Given the description of an element on the screen output the (x, y) to click on. 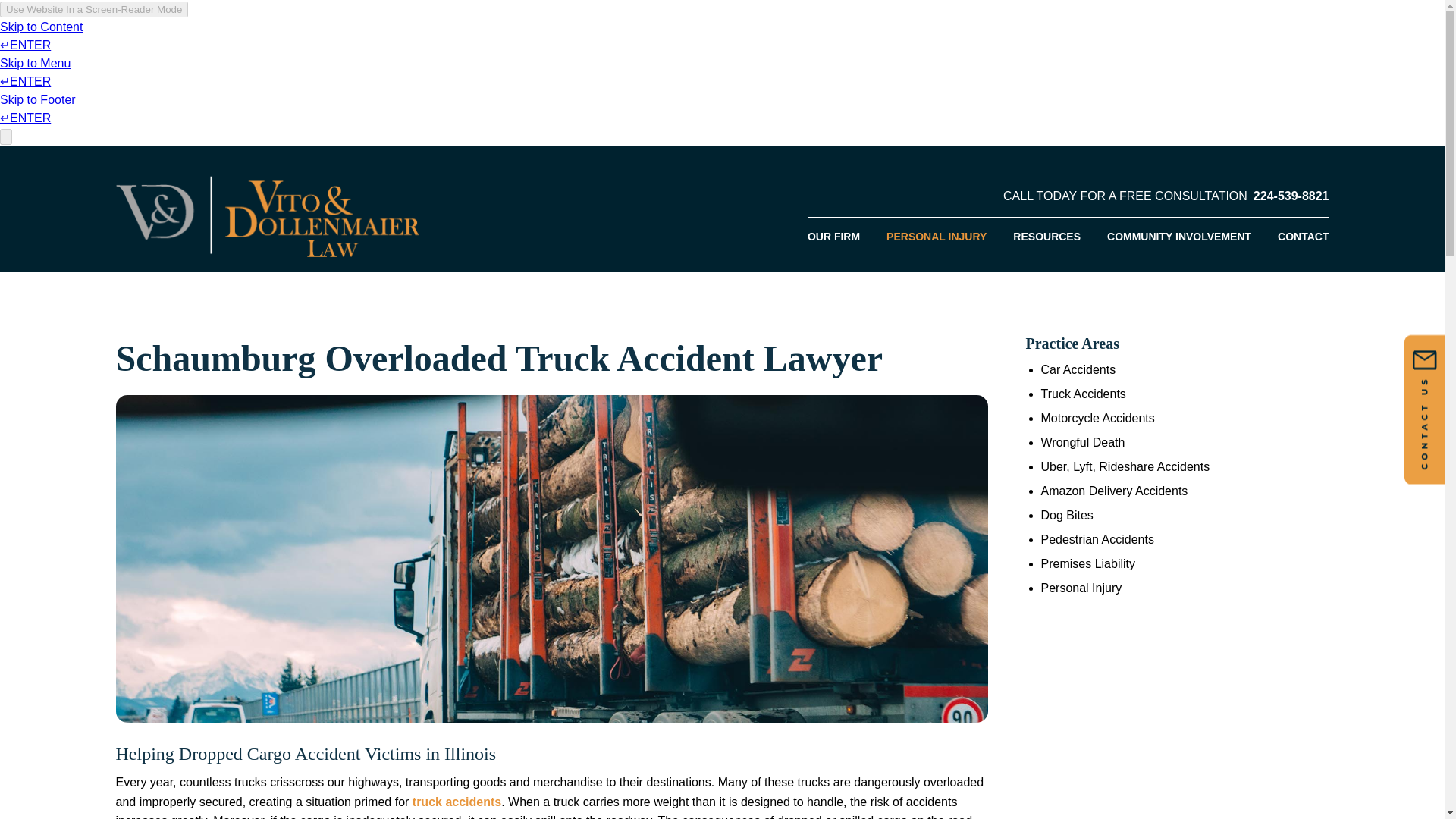
RESOURCES (1048, 236)
COMMUNITY INVOLVEMENT (1181, 236)
OUR FIRM (841, 236)
224-539-8821 (1291, 196)
PERSONAL INJURY (938, 236)
